Given the description of an element on the screen output the (x, y) to click on. 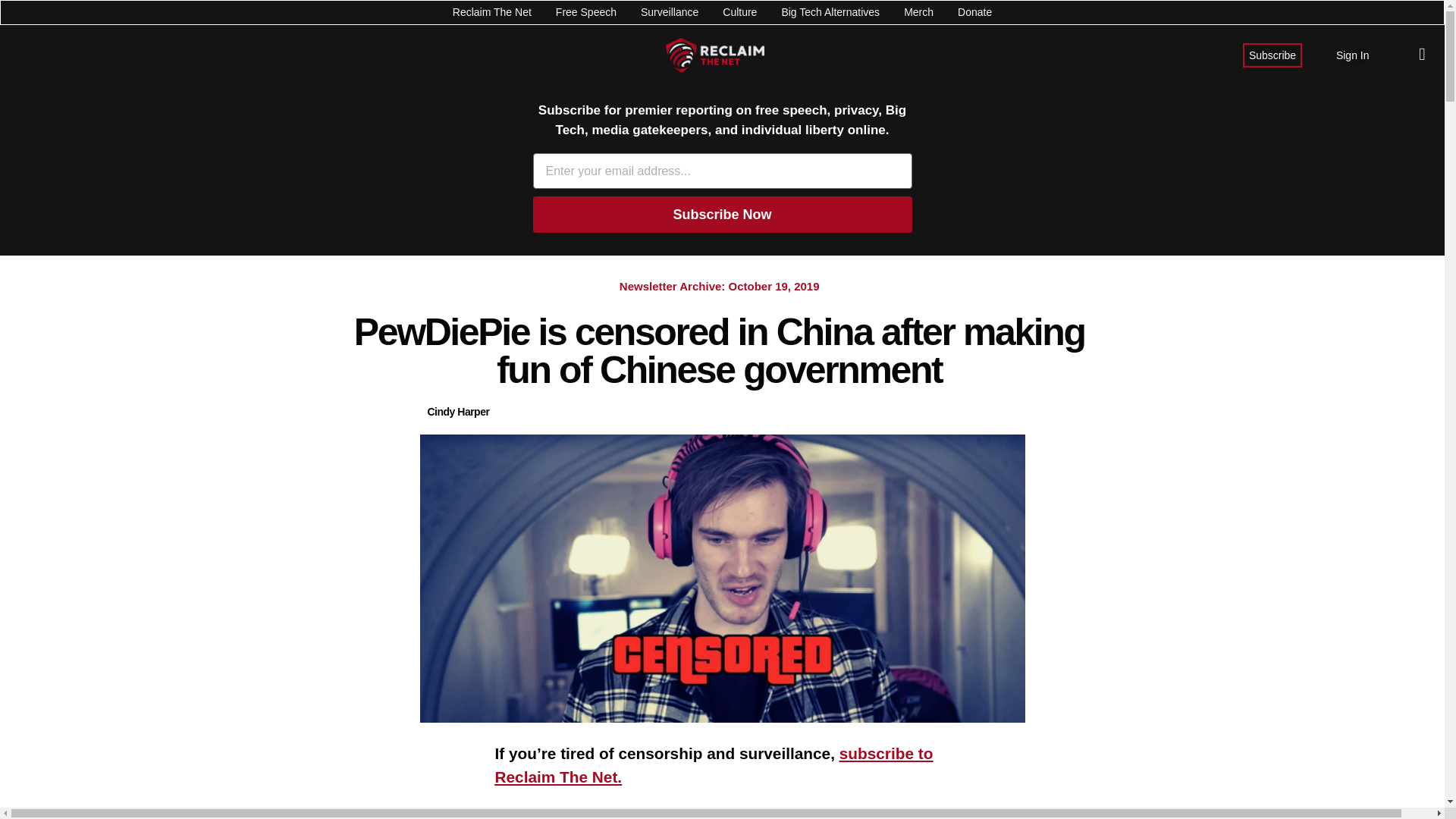
Donate (974, 12)
subscribe to Reclaim The Net. (714, 764)
Reclaim The Net (491, 12)
Cindy Harper (458, 412)
Culture (739, 12)
Subscribe Now (721, 214)
Big Tech Alternatives (829, 12)
Sign In (1353, 55)
Free Speech (585, 12)
Surveillance (669, 12)
Merch (918, 12)
Subscribe (1272, 55)
